Given the description of an element on the screen output the (x, y) to click on. 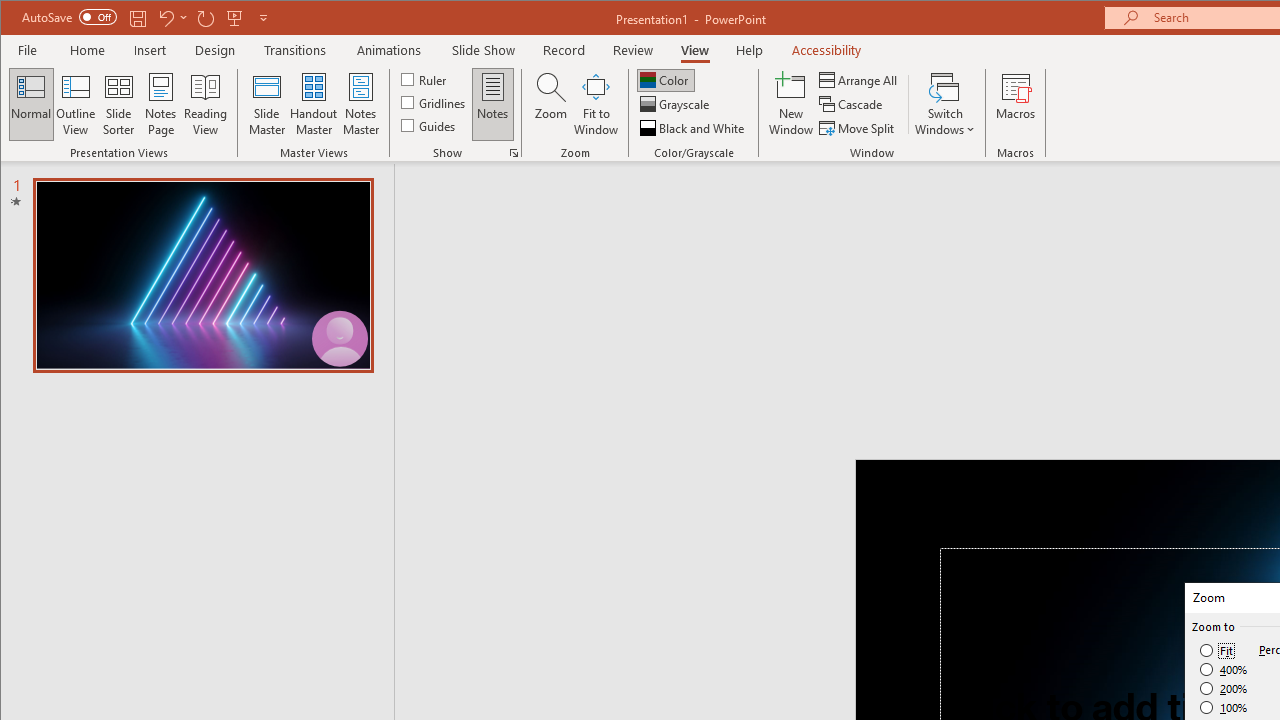
Switch Windows (944, 104)
Slide Master (266, 104)
Macros (1016, 104)
Black and White (694, 127)
200% (1224, 688)
